Given the description of an element on the screen output the (x, y) to click on. 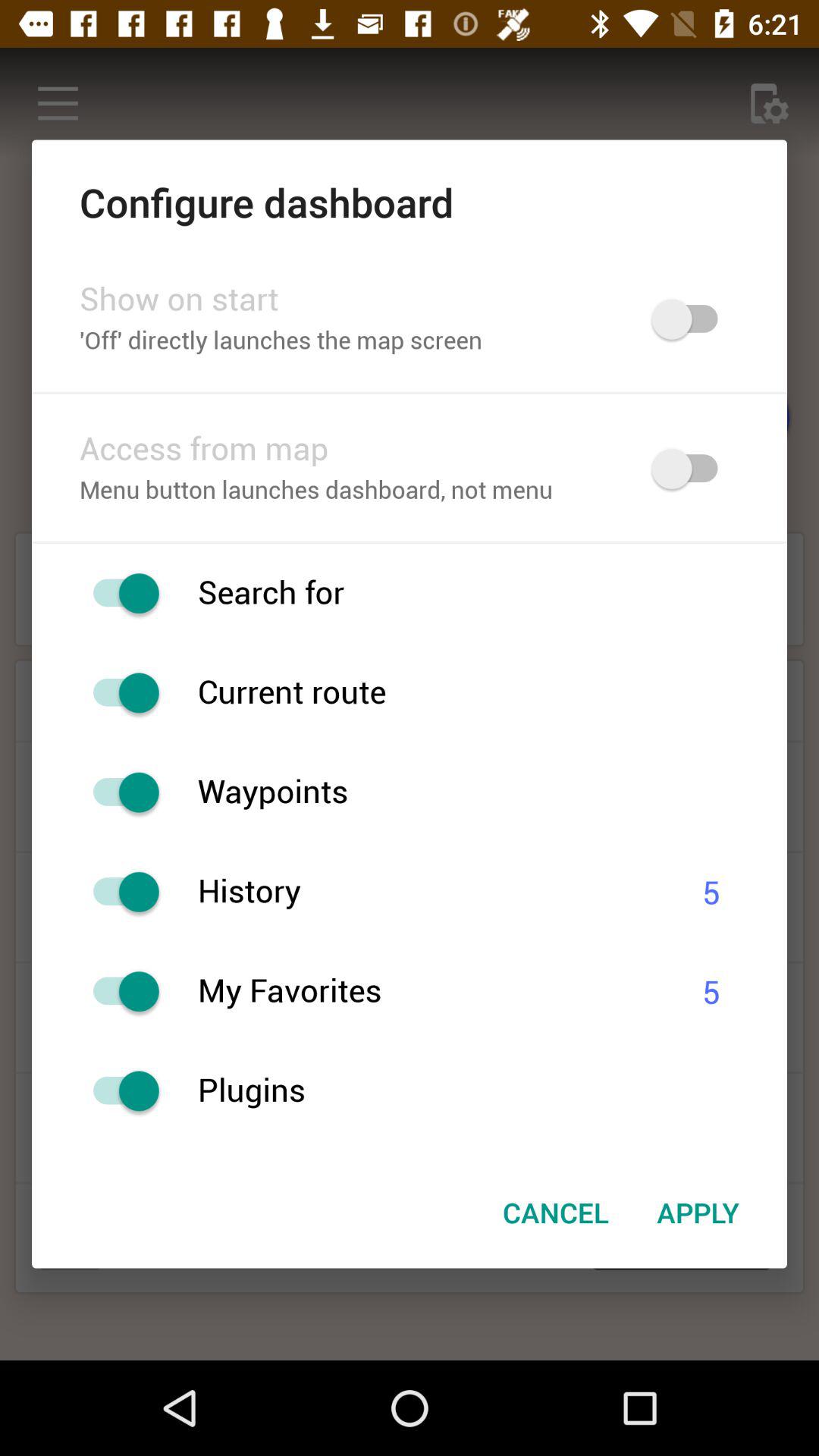
change option (118, 892)
